Given the description of an element on the screen output the (x, y) to click on. 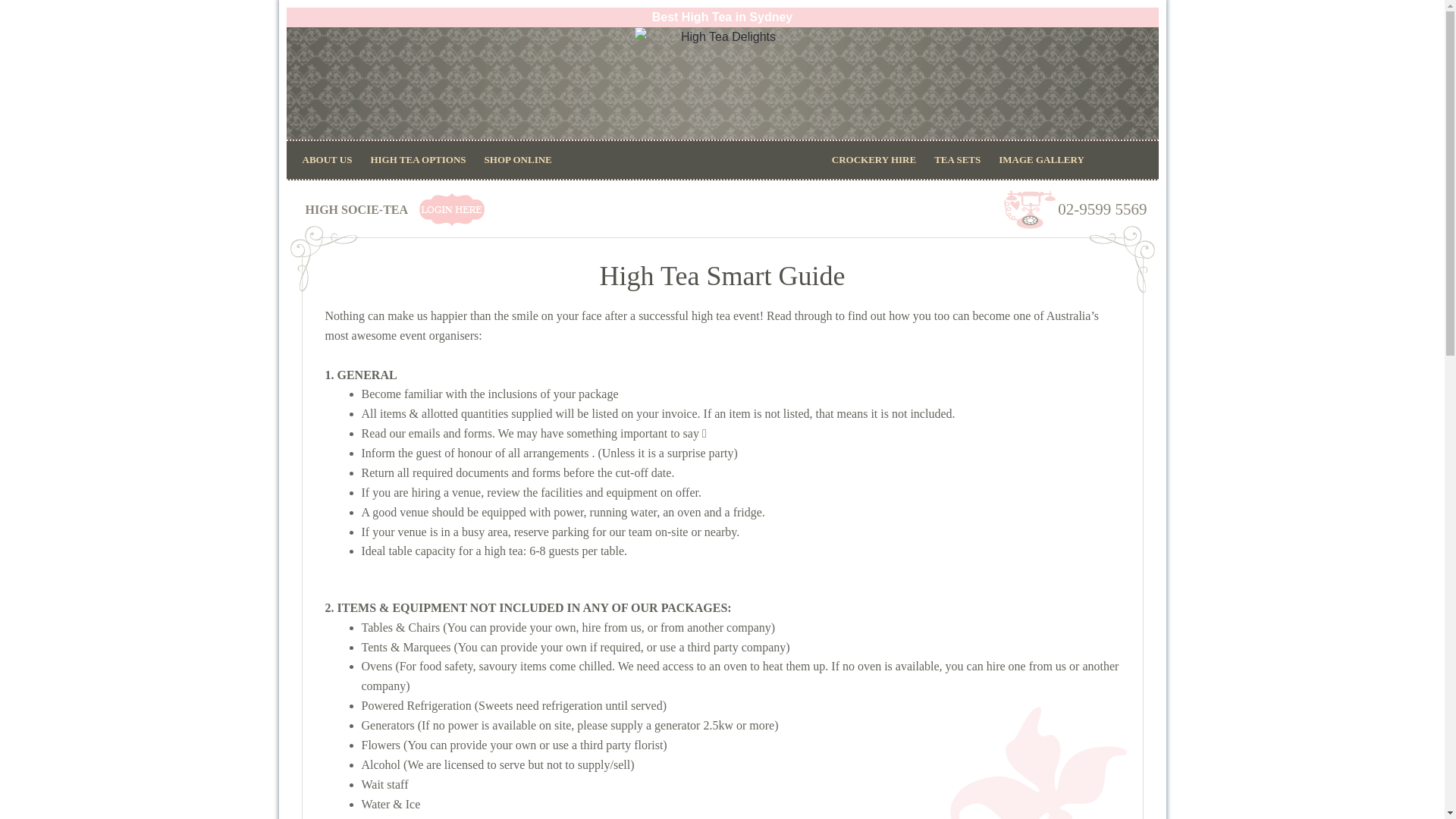
HIGH TEA OPTIONS (417, 159)
CROCKERY HIRE (873, 159)
ABOUT US (326, 159)
SHOP ONLINE (518, 159)
